Given the description of an element on the screen output the (x, y) to click on. 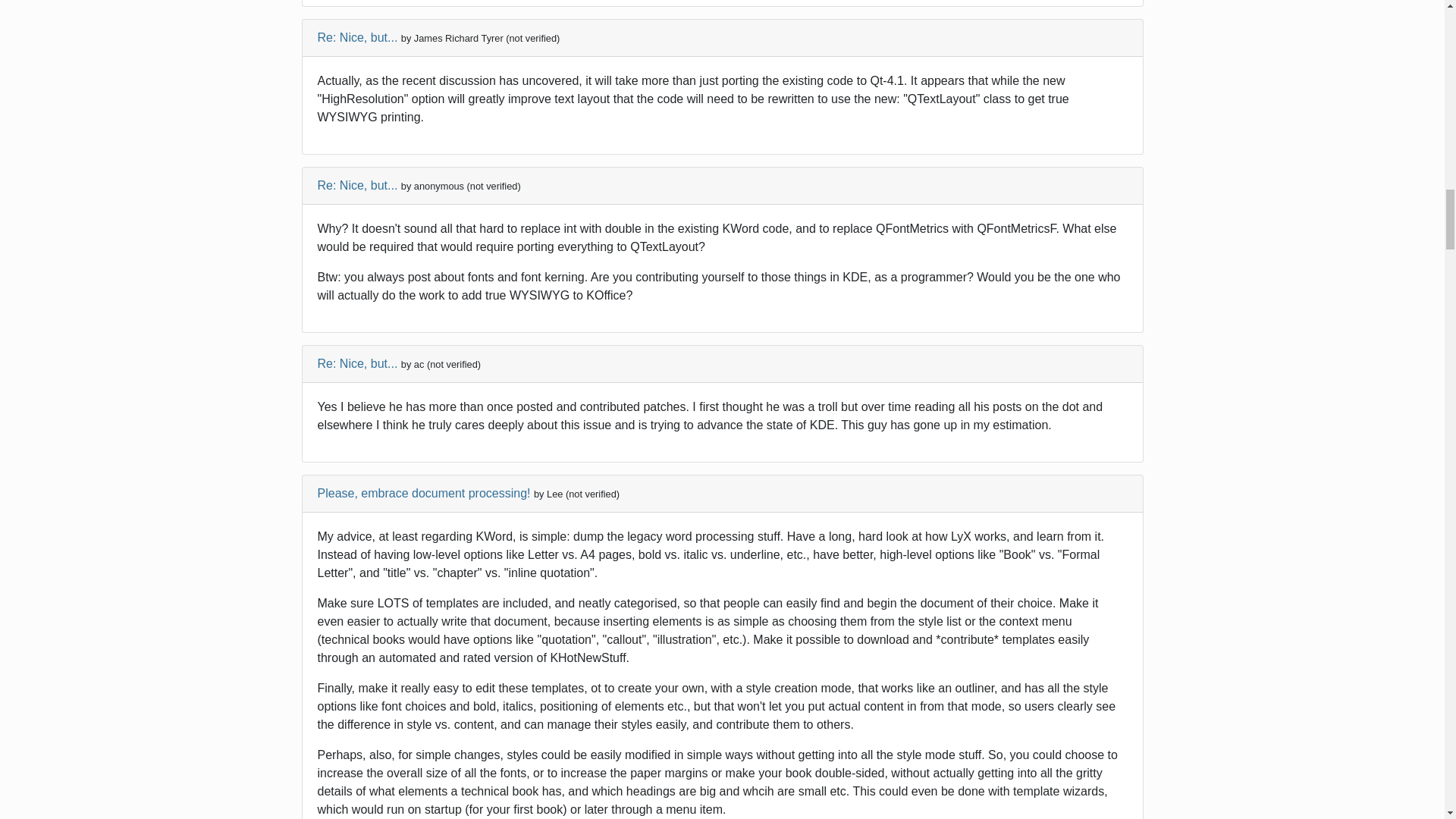
Re: Nice, but... (357, 185)
Please, embrace document processing! (423, 492)
Re: Nice, but... (357, 37)
Re: Nice, but... (357, 363)
